Given the description of an element on the screen output the (x, y) to click on. 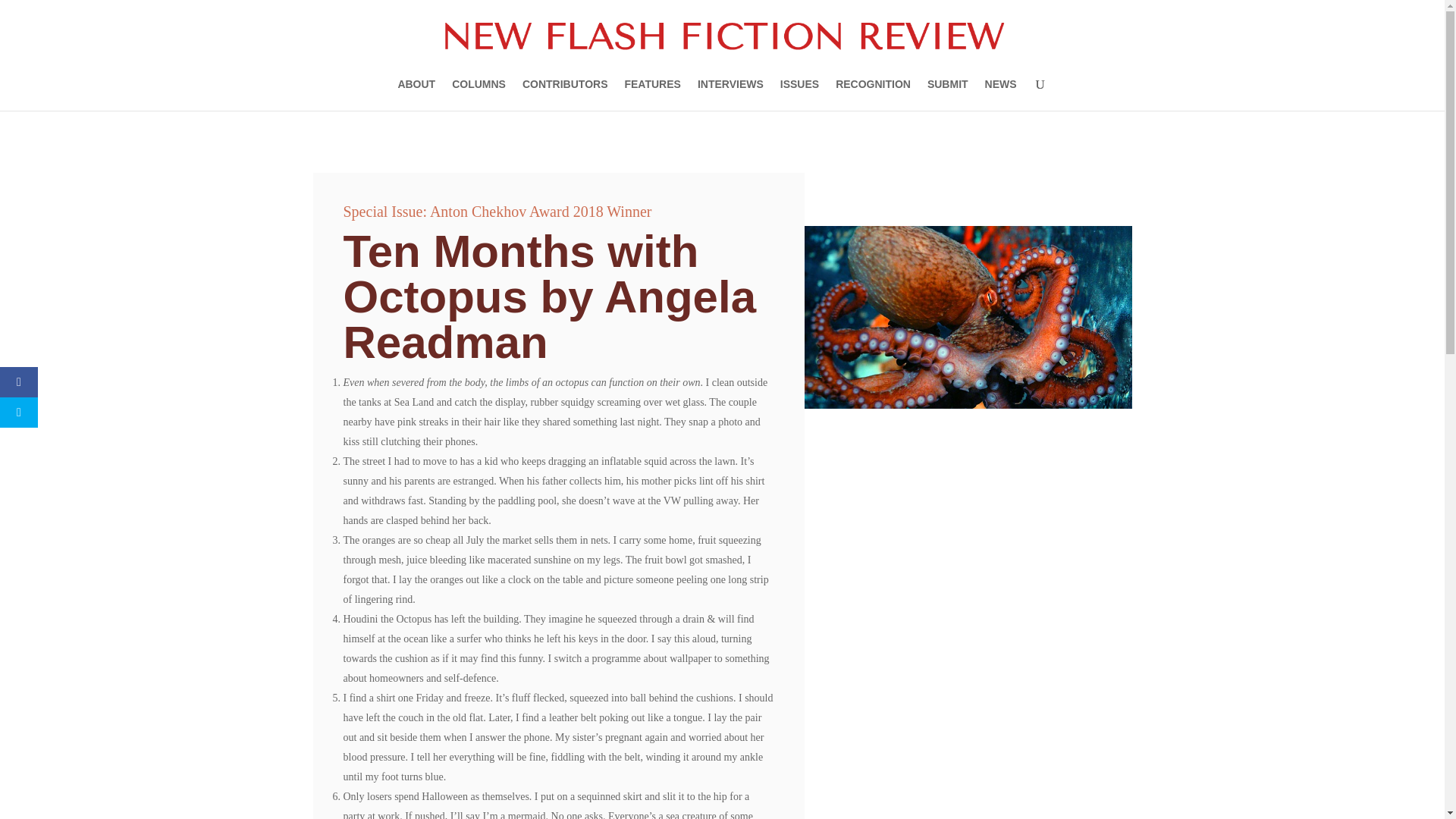
NEWS (1000, 94)
CONTRIBUTORS (565, 94)
FEATURES (651, 94)
Special Issue: Anton Chekhov Award 2018 (472, 211)
df1f1898ca71b00764007b9cd0092470 (967, 317)
SUBMIT (947, 94)
INTERVIEWS (729, 94)
COLUMNS (478, 94)
RECOGNITION (873, 94)
ISSUES (799, 94)
